Given the description of an element on the screen output the (x, y) to click on. 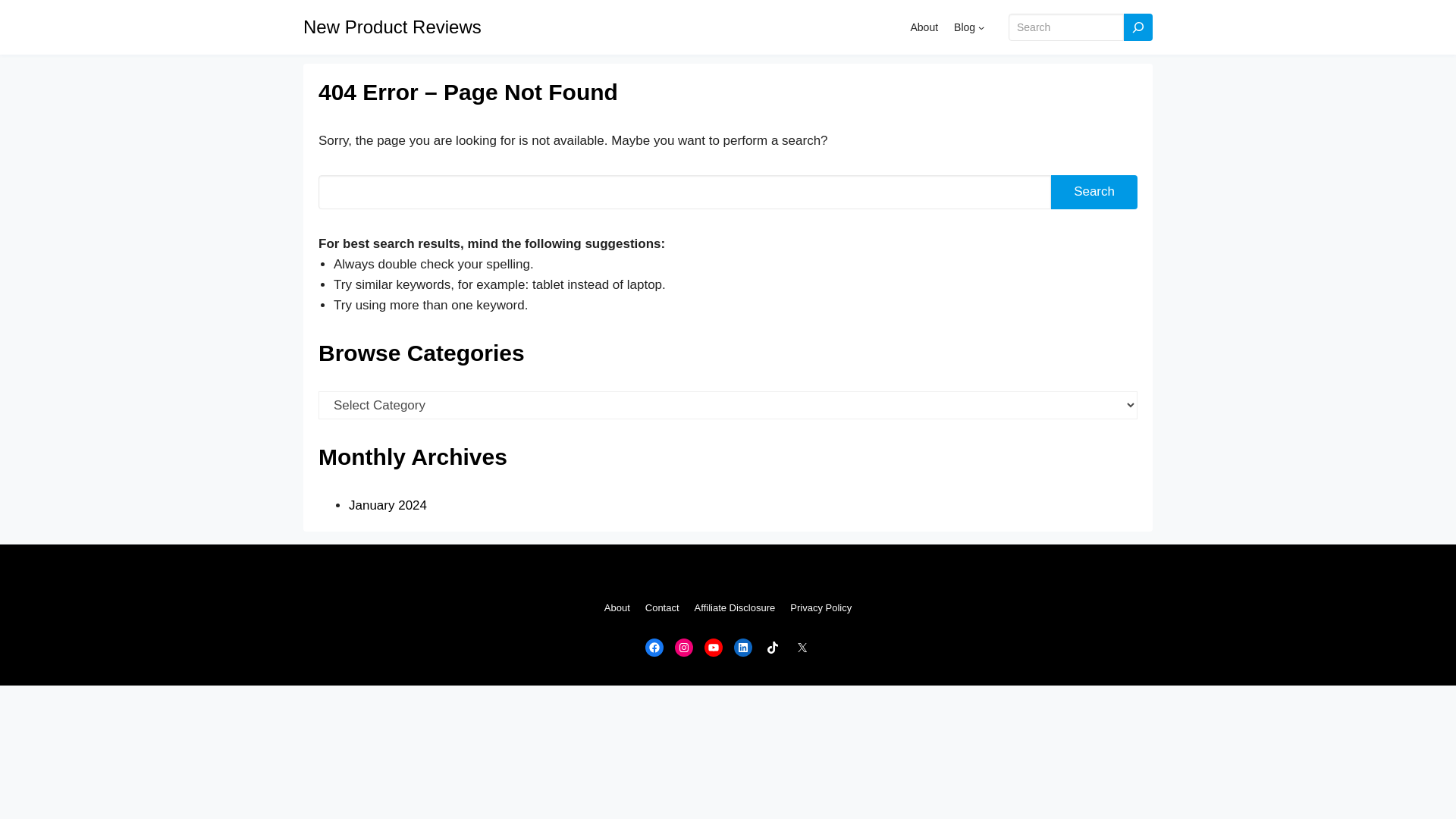
Blog (964, 27)
About (617, 608)
Facebook (653, 647)
Contact (662, 608)
January 2024 (387, 504)
X (801, 647)
Instagram (684, 647)
Search (1094, 192)
Privacy Policy (820, 608)
Affiliate Disclosure (735, 608)
New Product Reviews (391, 26)
LinkedIn (742, 647)
TikTok (771, 647)
About (923, 27)
YouTube (712, 647)
